Given the description of an element on the screen output the (x, y) to click on. 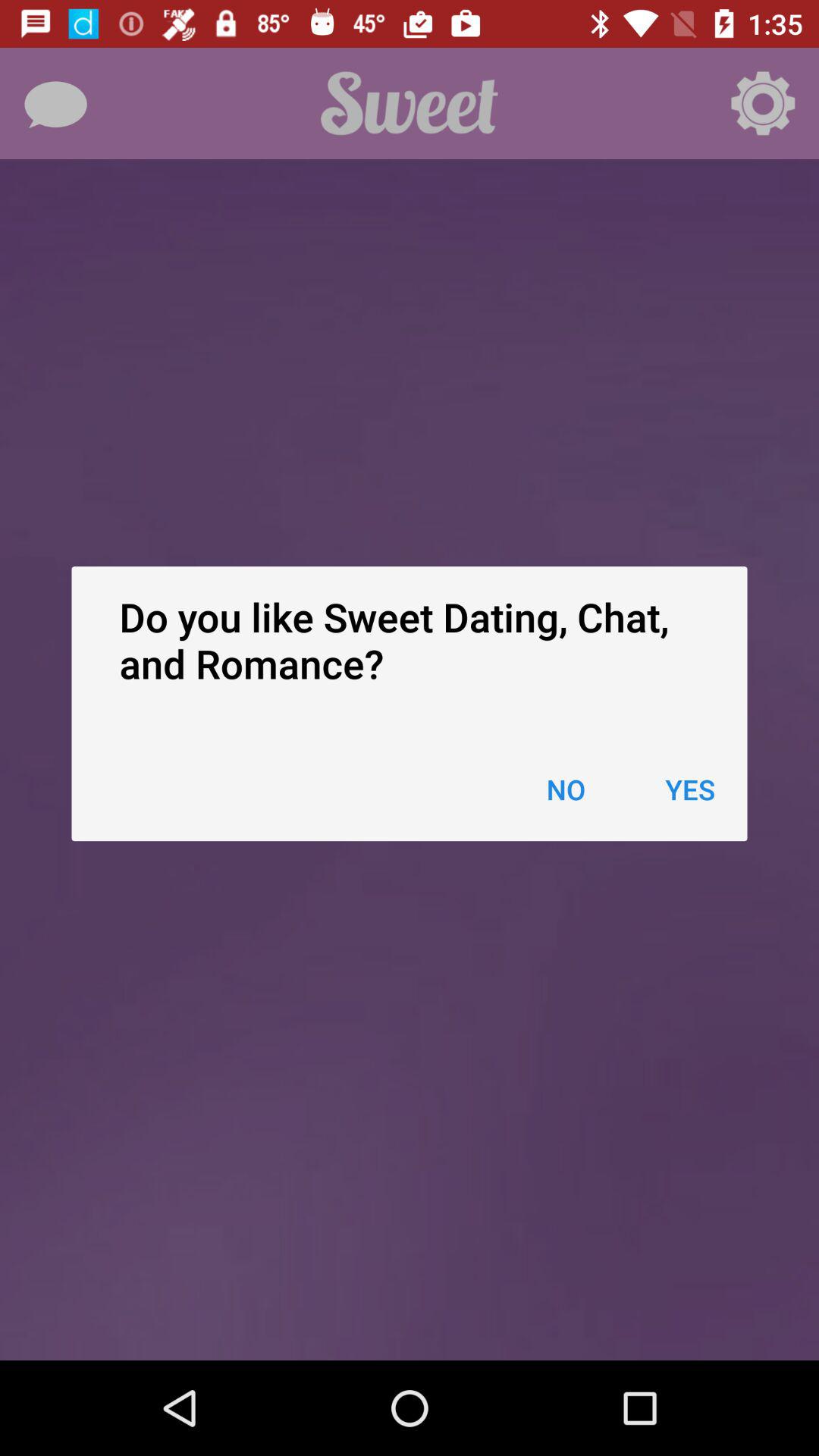
tap the icon next to the yes item (565, 789)
